Given the description of an element on the screen output the (x, y) to click on. 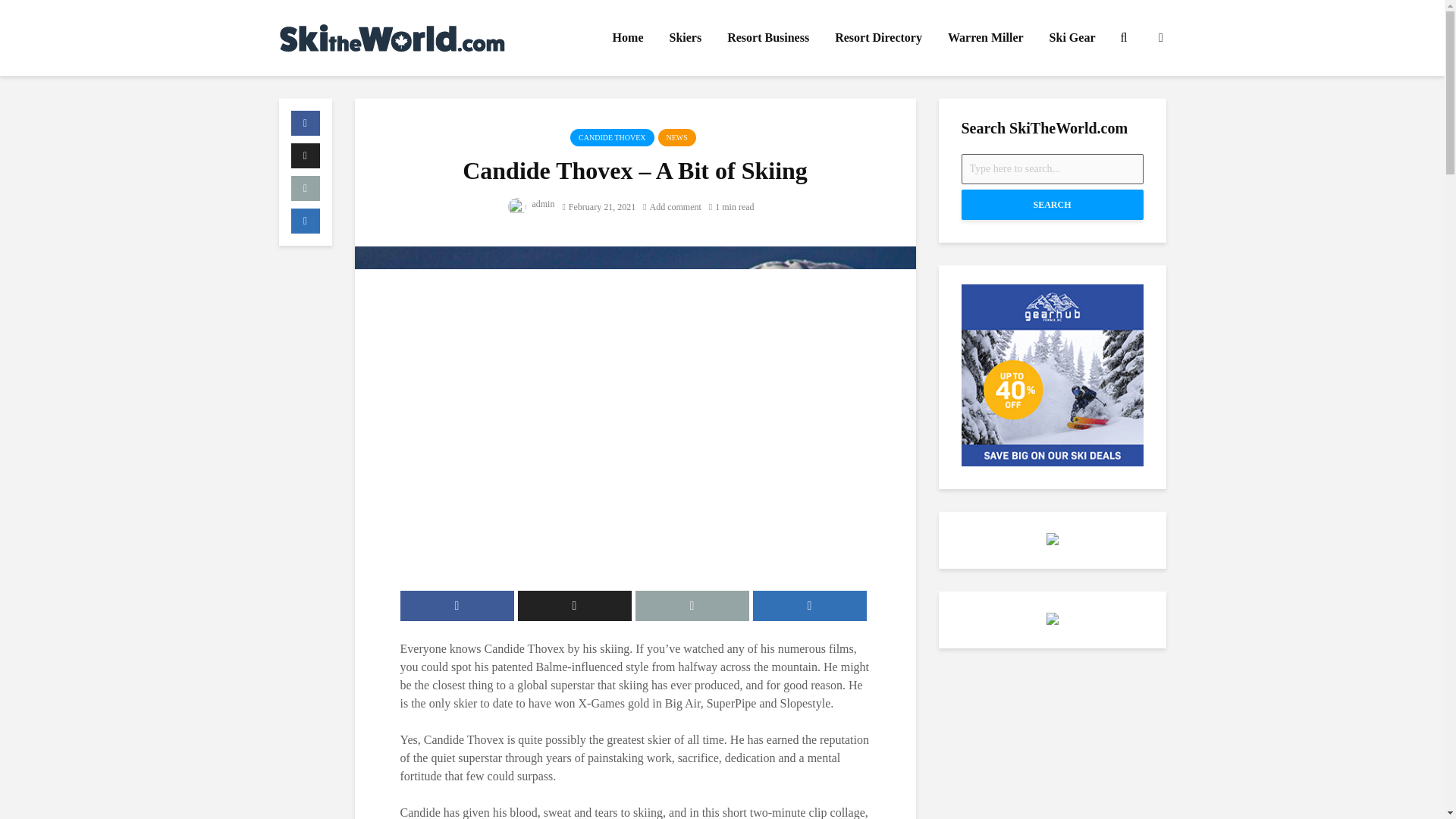
Skiers (685, 37)
Resort Business (768, 37)
Home (628, 37)
Ski Gear (1072, 37)
Warren Miller (985, 37)
Resort Directory (878, 37)
